Given the description of an element on the screen output the (x, y) to click on. 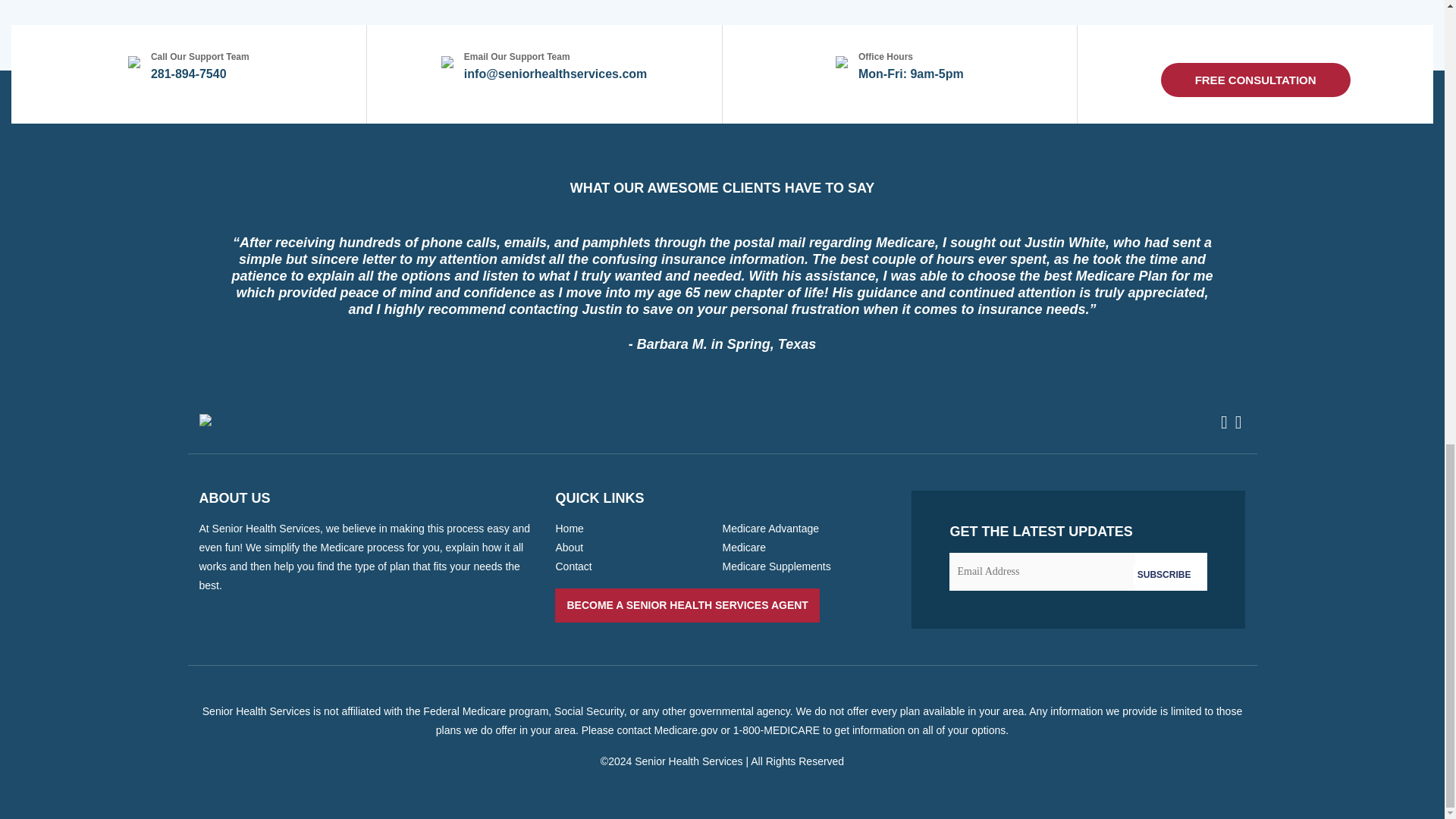
BECOME A SENIOR HEALTH SERVICES AGENT (686, 605)
Medicare Advantage (770, 528)
Subscribe (1163, 575)
Contact (572, 566)
281-894-7540 (189, 73)
Subscribe (1163, 575)
Home (568, 528)
FREE CONSULTATION (1255, 80)
About (568, 547)
Medicare Supplements (775, 566)
